Given the description of an element on the screen output the (x, y) to click on. 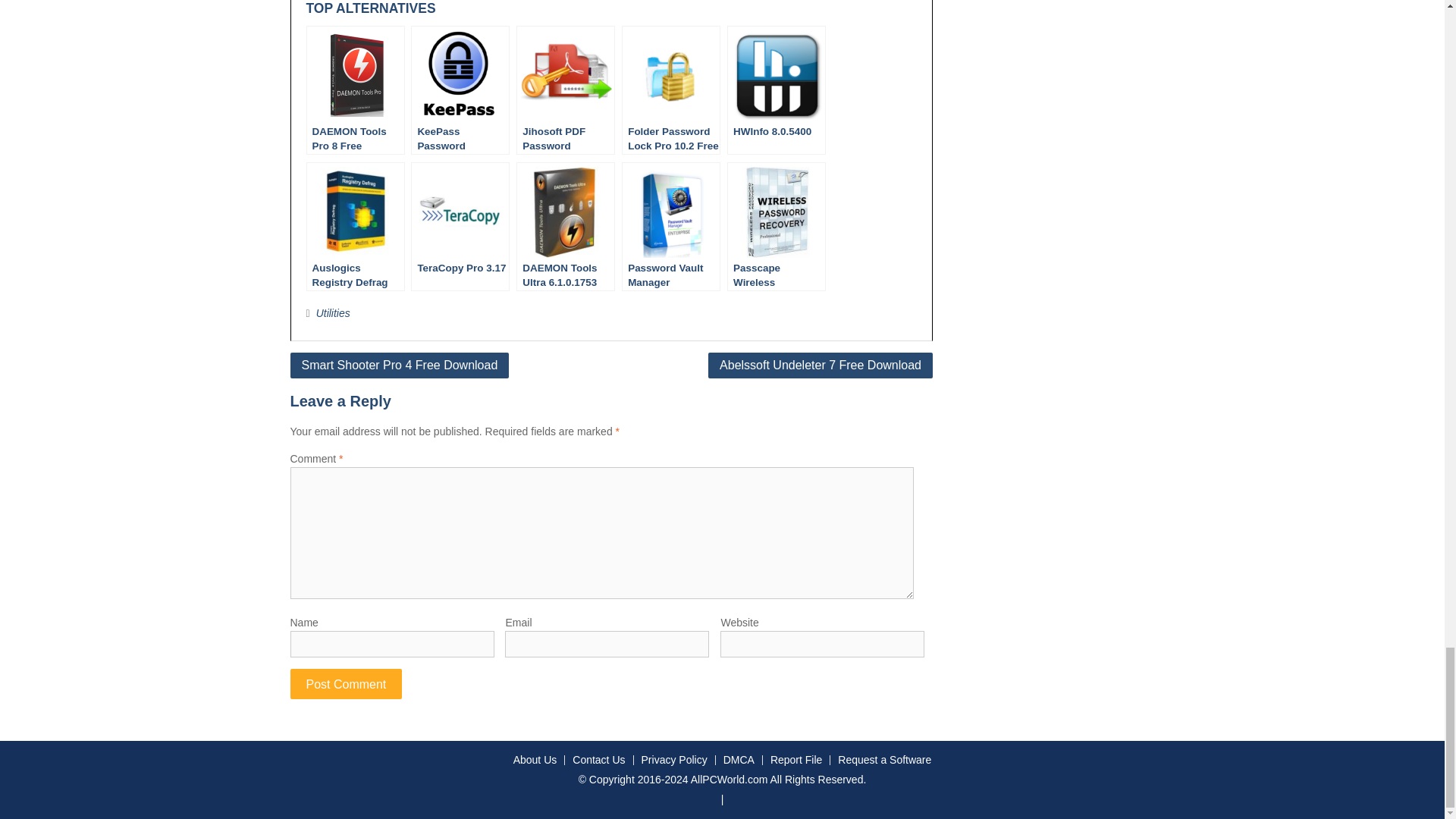
HWInfo 8.0.5400 (775, 89)
HWInfo 8.0.5400 (775, 89)
Jihosoft PDF Password Remover Free Download (565, 89)
Password Vault Manager Enterprise 8.5.2.0 Free Download (670, 226)
Auslogics Registry Defrag 14.0.0.6 (354, 226)
DAEMON Tools Ultra 6.1.0.1753 (565, 226)
Utilities (332, 313)
DAEMON Tools Pro 8 Free Download (354, 89)
Auslogics Registry Defrag 14.0.0.6 (354, 226)
Password Vault Manager Enterprise 8.5.2.0 Free Download (670, 226)
KeePass Password Manager Free Download (459, 89)
DAEMON Tools Pro 8 Free Download (354, 89)
TeraCopy Pro 3.17 (459, 226)
Folder Password Lock Pro 10.2 Free Download (670, 89)
KeePass Password Manager Free Download (459, 89)
